Given the description of an element on the screen output the (x, y) to click on. 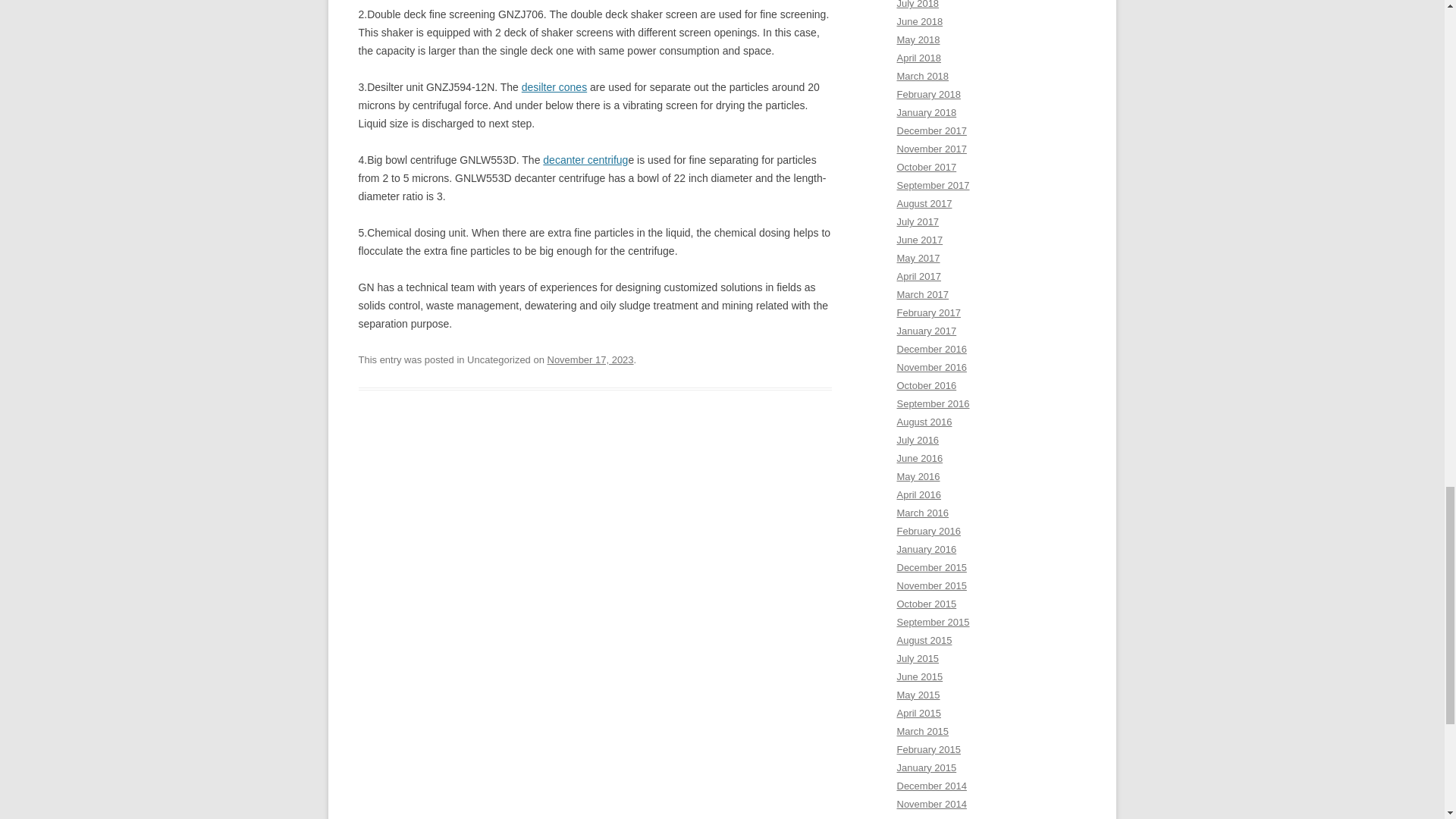
decanter centrifug (585, 159)
1:05 am (590, 359)
desilter cones (553, 87)
November 17, 2023 (590, 359)
